Given the description of an element on the screen output the (x, y) to click on. 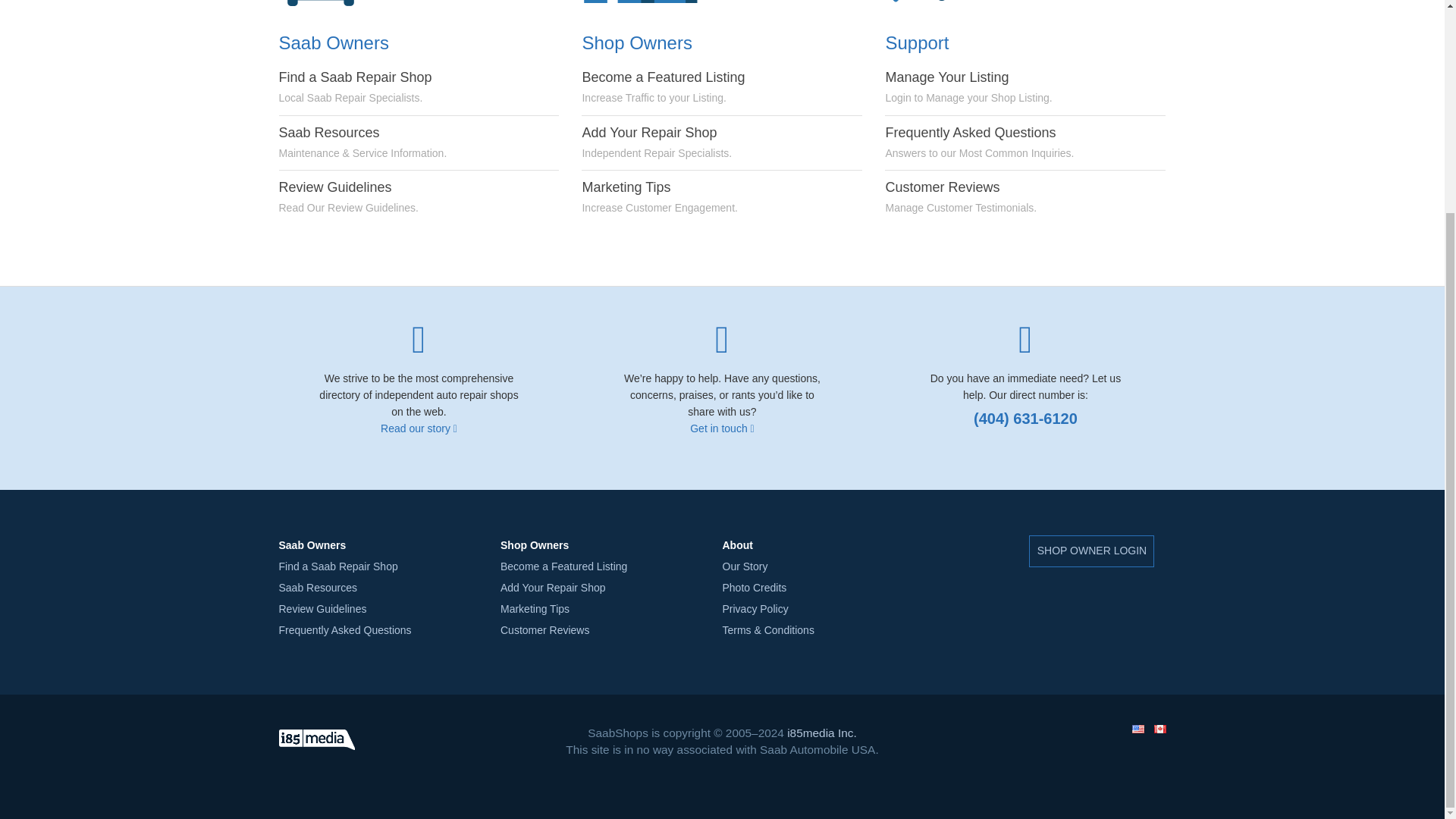
Support (944, 5)
Marketing Tips (534, 608)
Become a Featured Listing (563, 566)
Review Guidelines (960, 196)
Privacy Policy (322, 608)
Add Your Repair Shop (754, 608)
i85media Inc. (552, 587)
SaabShops US (317, 739)
Find a Saab Repair Shop (968, 86)
Customer Reviews (1136, 728)
Our Story (338, 566)
